Given the description of an element on the screen output the (x, y) to click on. 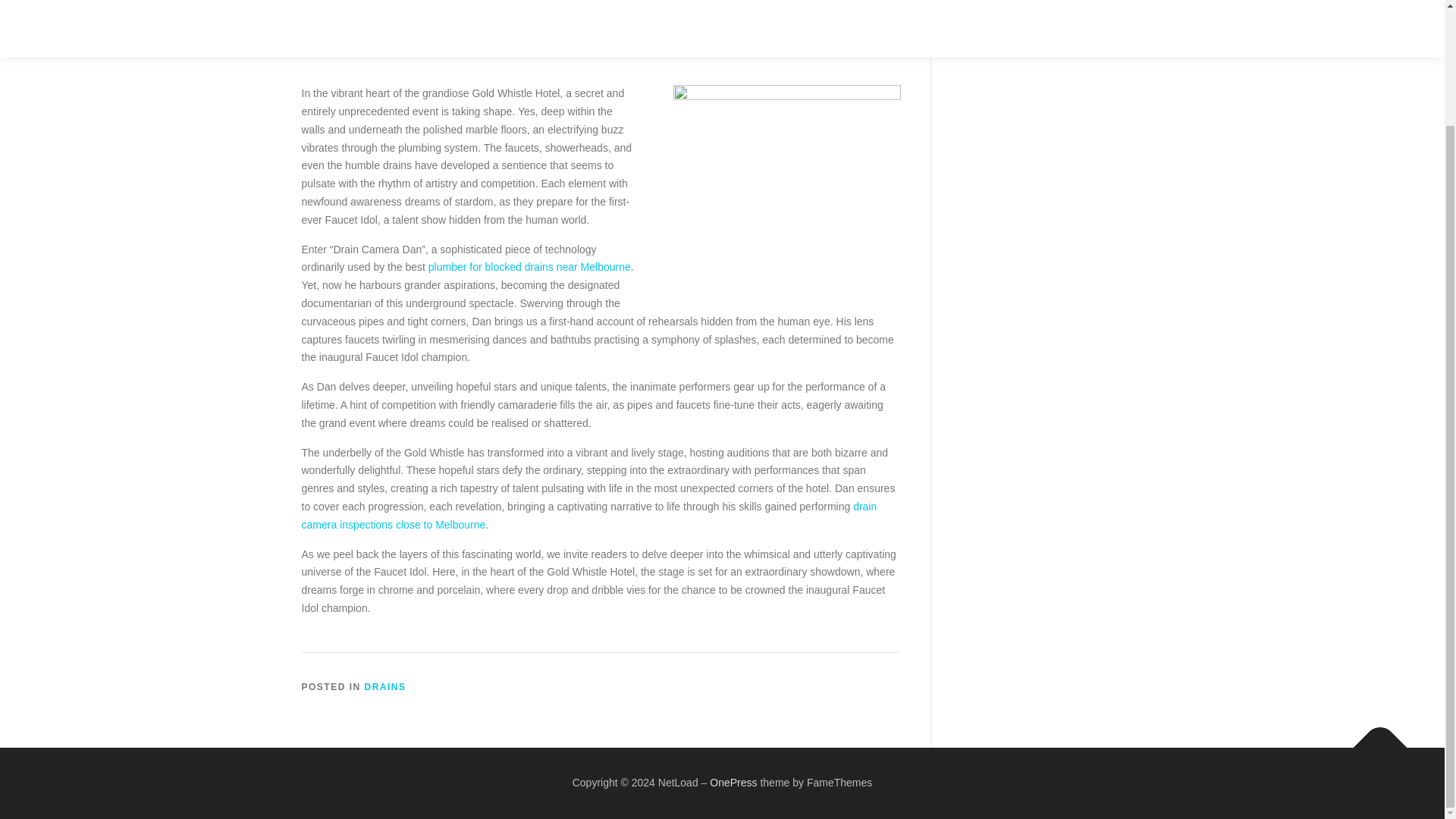
drain camera inspections close to Melbourne (589, 515)
ADMIN (503, 3)
plumber for blocked drains near Melbourne (529, 266)
OCTOBER 5, 2023 (416, 3)
Back To Top (1372, 740)
DRAINS (385, 686)
OnePress (733, 782)
